Given the description of an element on the screen output the (x, y) to click on. 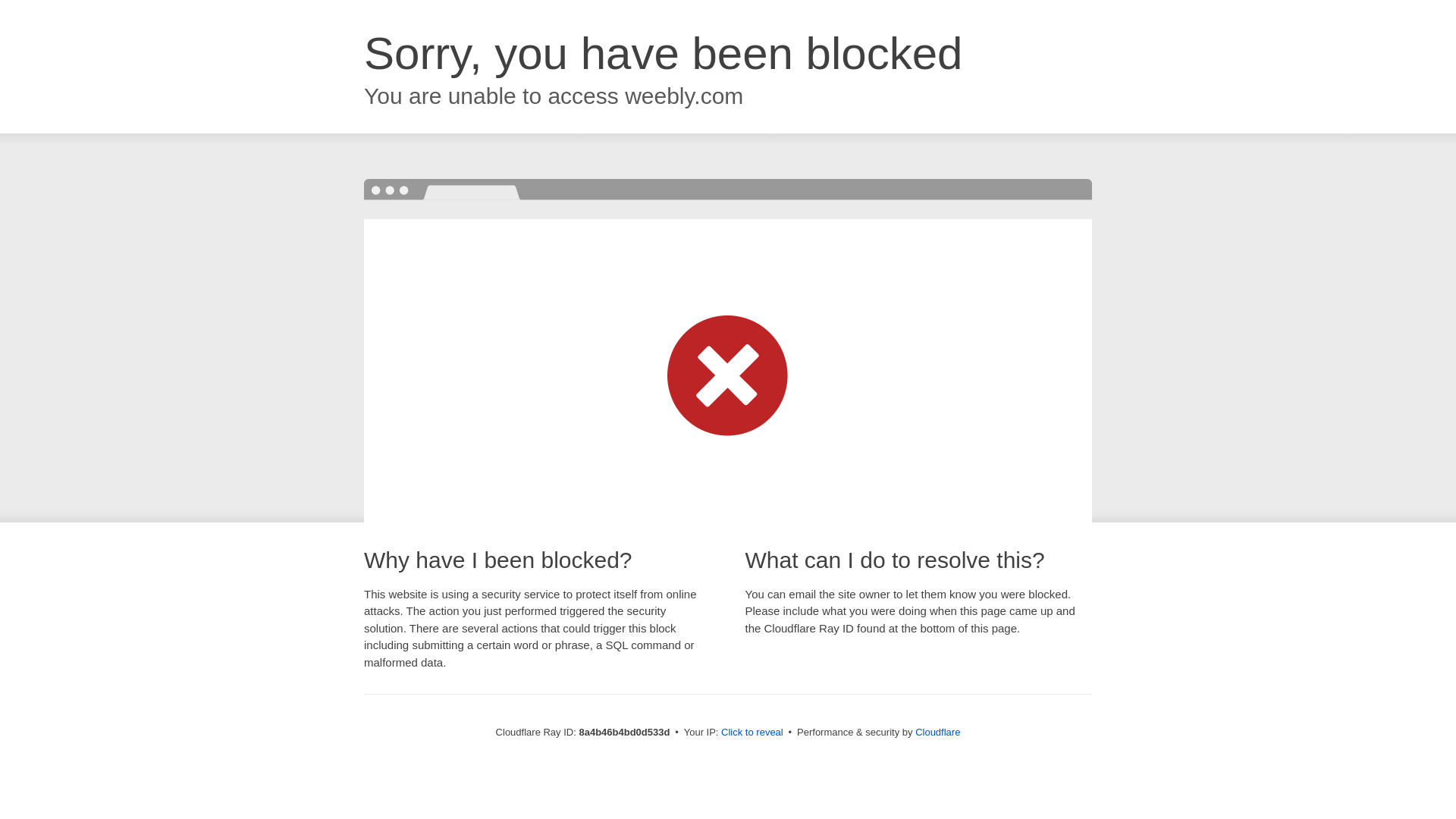
Cloudflare (937, 731)
Click to reveal (751, 732)
